Given the description of an element on the screen output the (x, y) to click on. 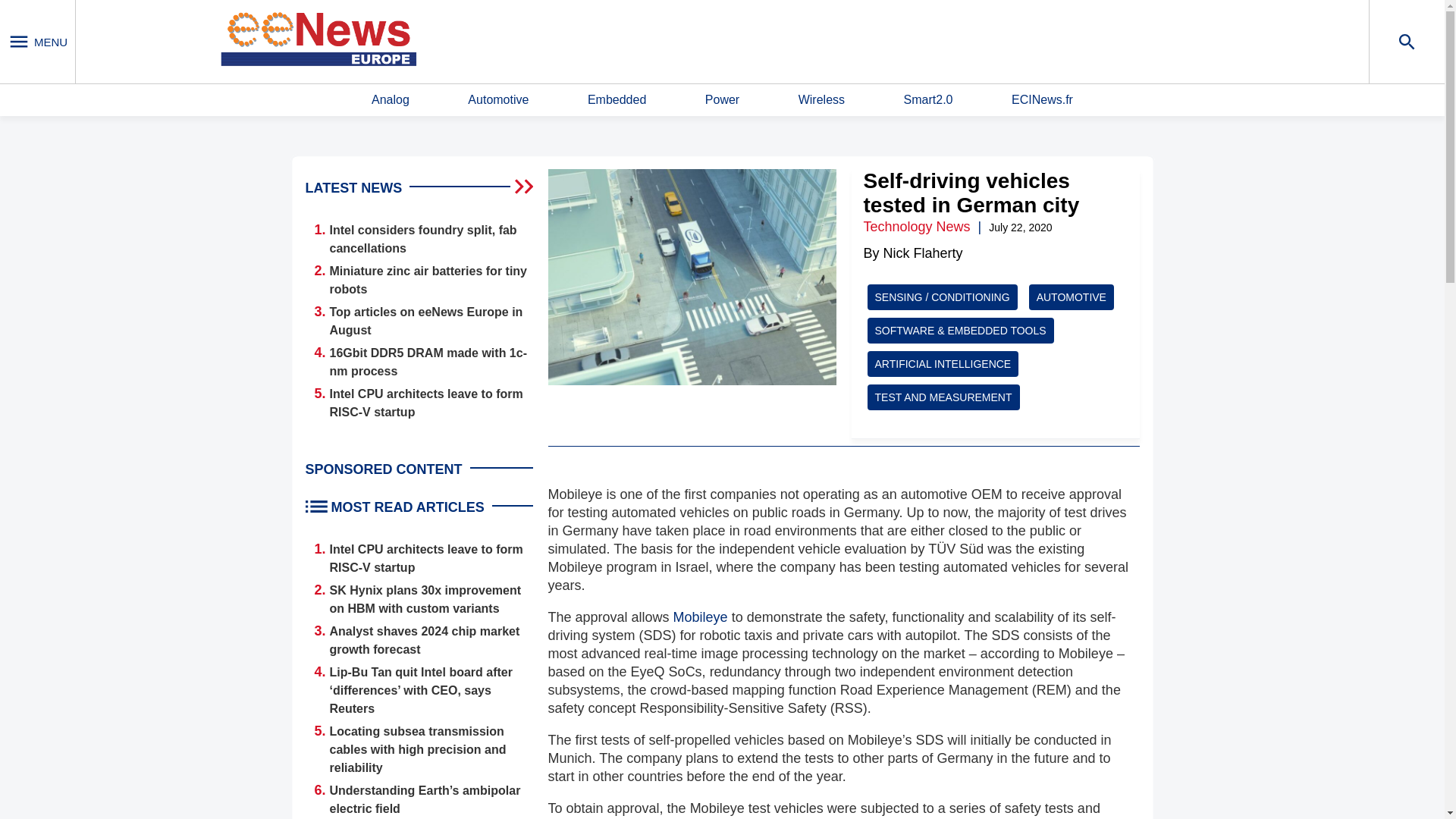
ECINews.fr (1042, 99)
Power (721, 99)
Wireless (820, 99)
Analog (390, 99)
Automotive (497, 99)
Embedded (617, 99)
Smart2.0 (928, 99)
